Given the description of an element on the screen output the (x, y) to click on. 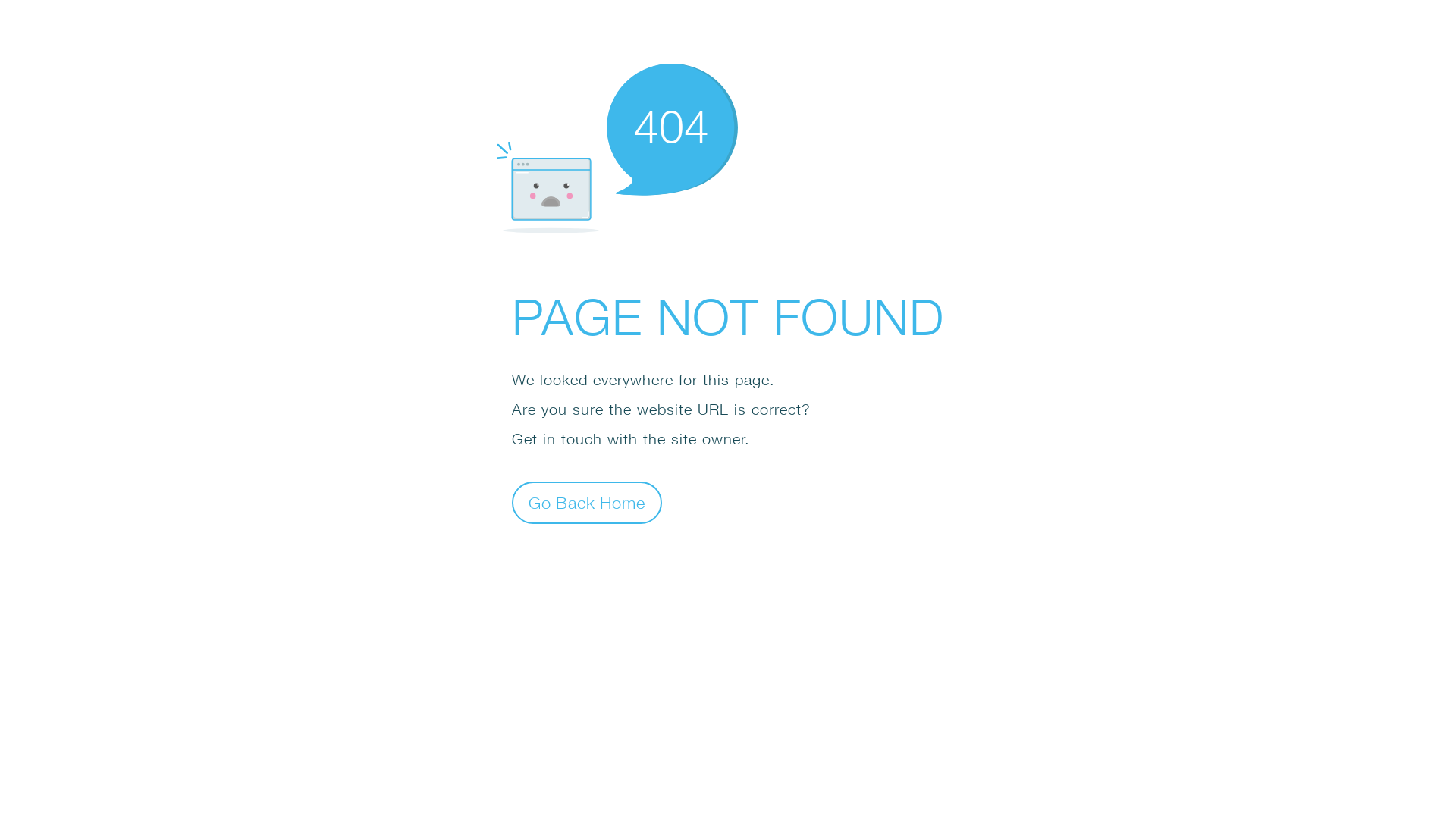
Go Back Home Element type: text (586, 502)
